Given the description of an element on the screen output the (x, y) to click on. 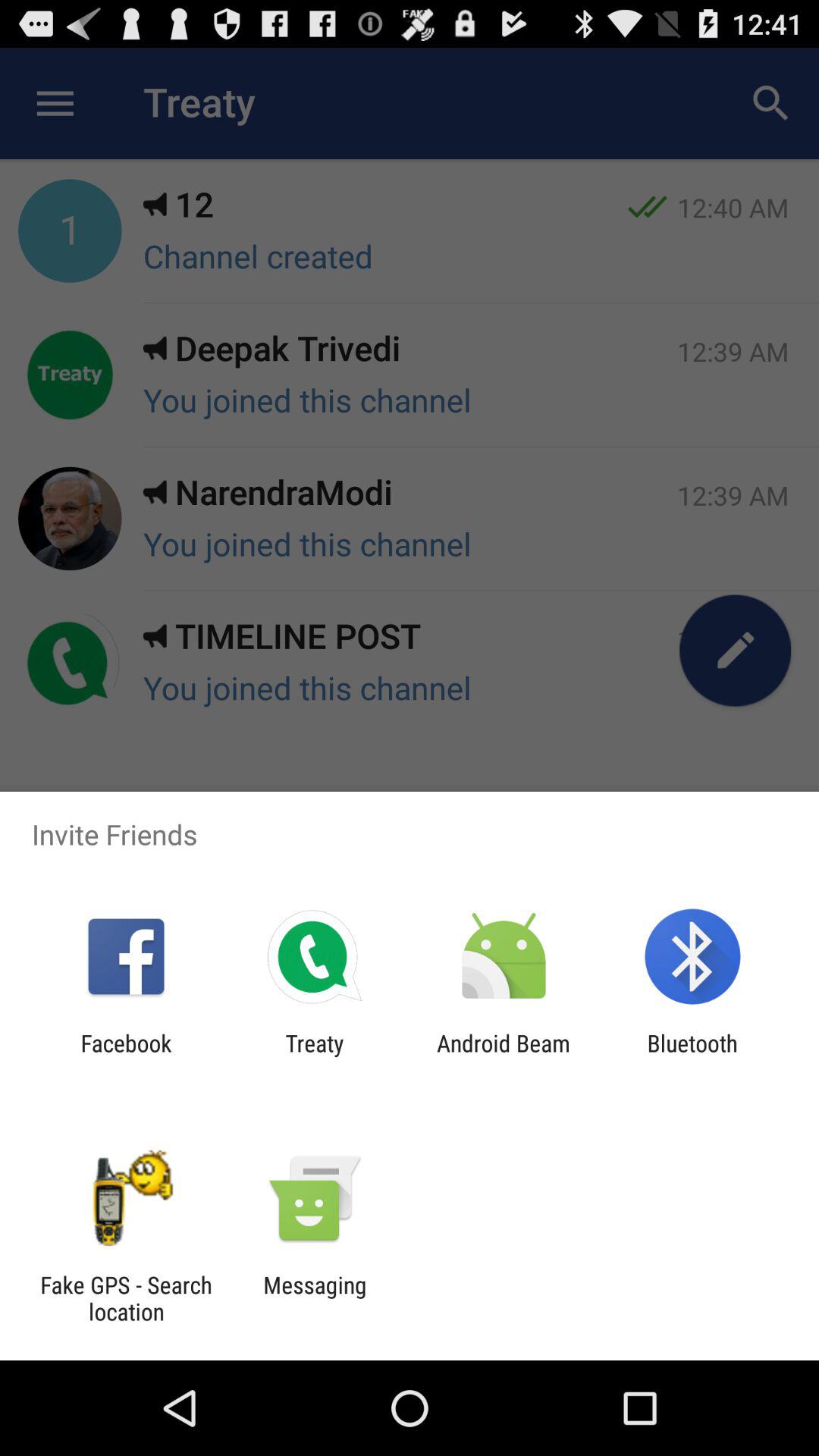
select bluetooth at the bottom right corner (692, 1056)
